Given the description of an element on the screen output the (x, y) to click on. 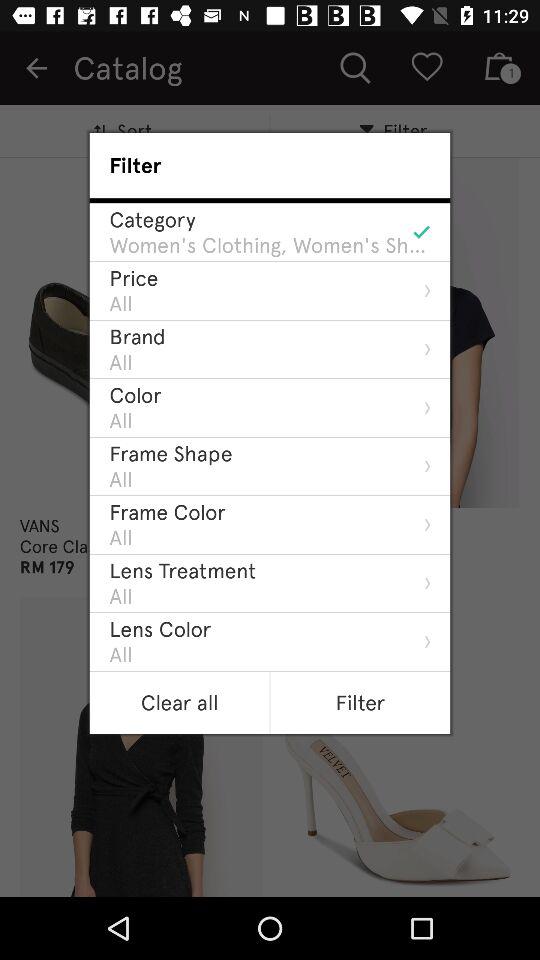
click the item below the category (269, 245)
